Given the description of an element on the screen output the (x, y) to click on. 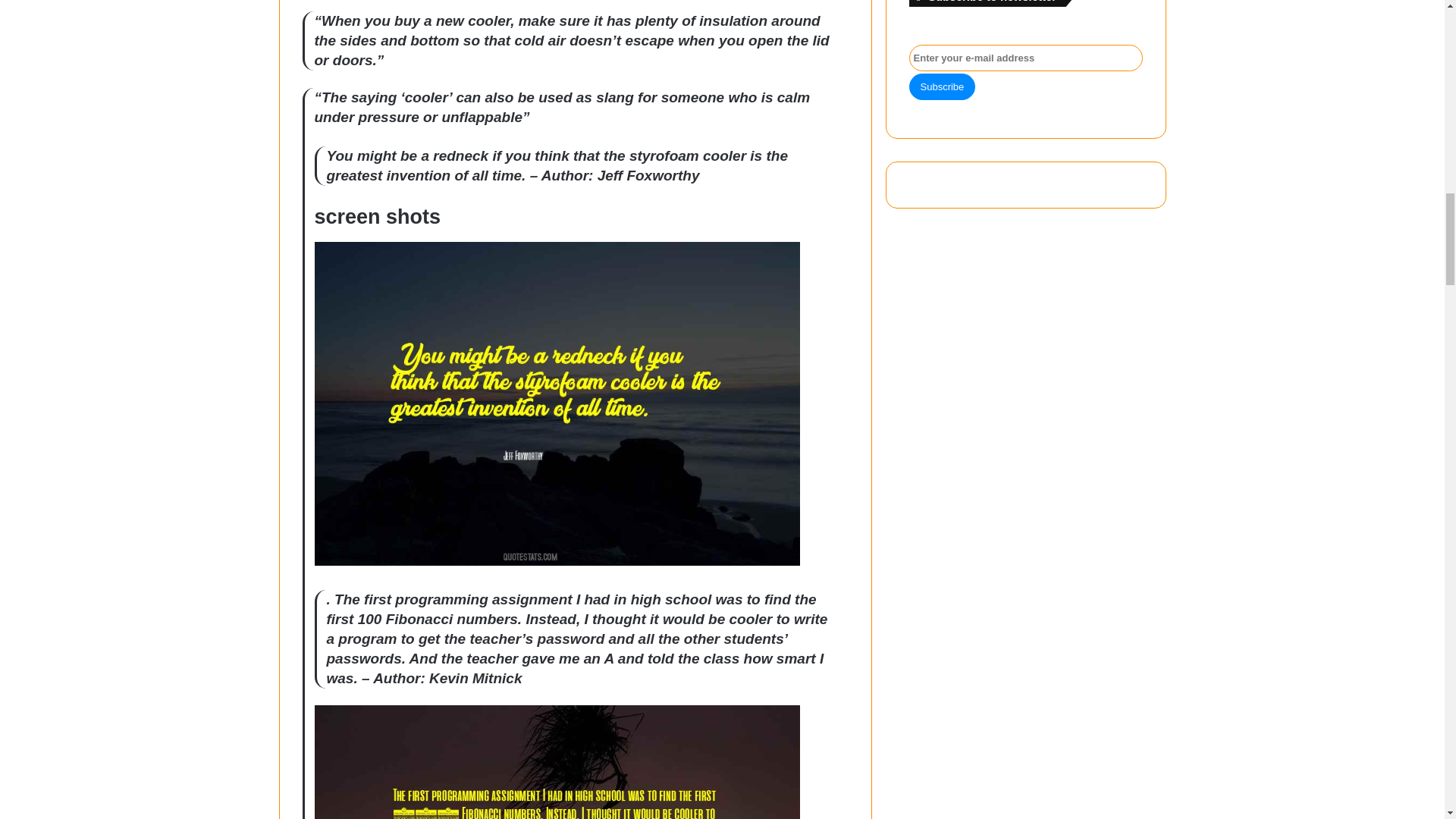
Subscribe (941, 86)
